Given the description of an element on the screen output the (x, y) to click on. 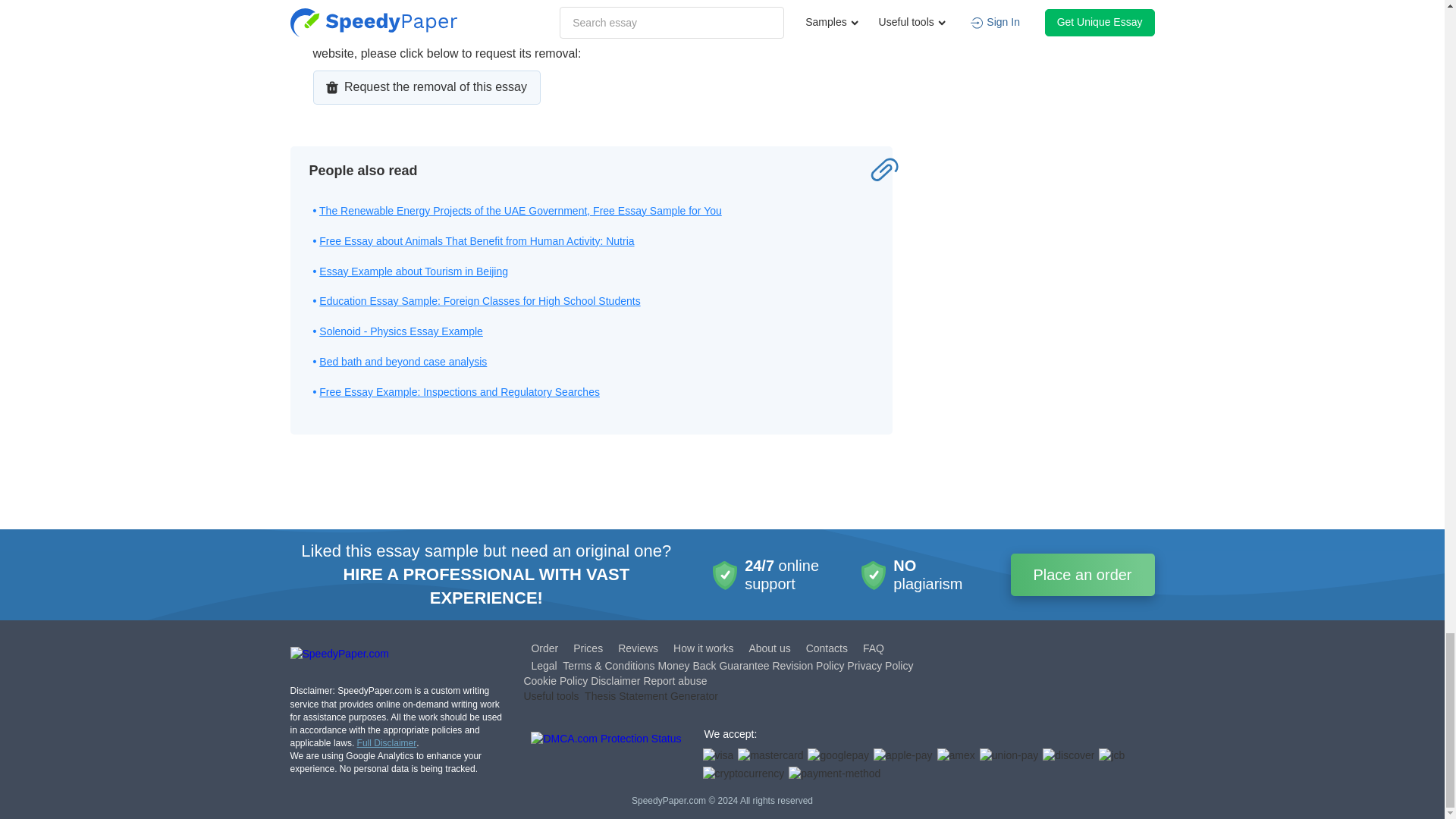
googlepay (838, 754)
jcb (1111, 754)
DMCA.com Protection Status (606, 756)
discover (1068, 754)
amex (956, 754)
payment-method (834, 774)
union-pay (1009, 754)
apple-pay (903, 754)
visa (717, 754)
cryptocurrency (742, 774)
